Given the description of an element on the screen output the (x, y) to click on. 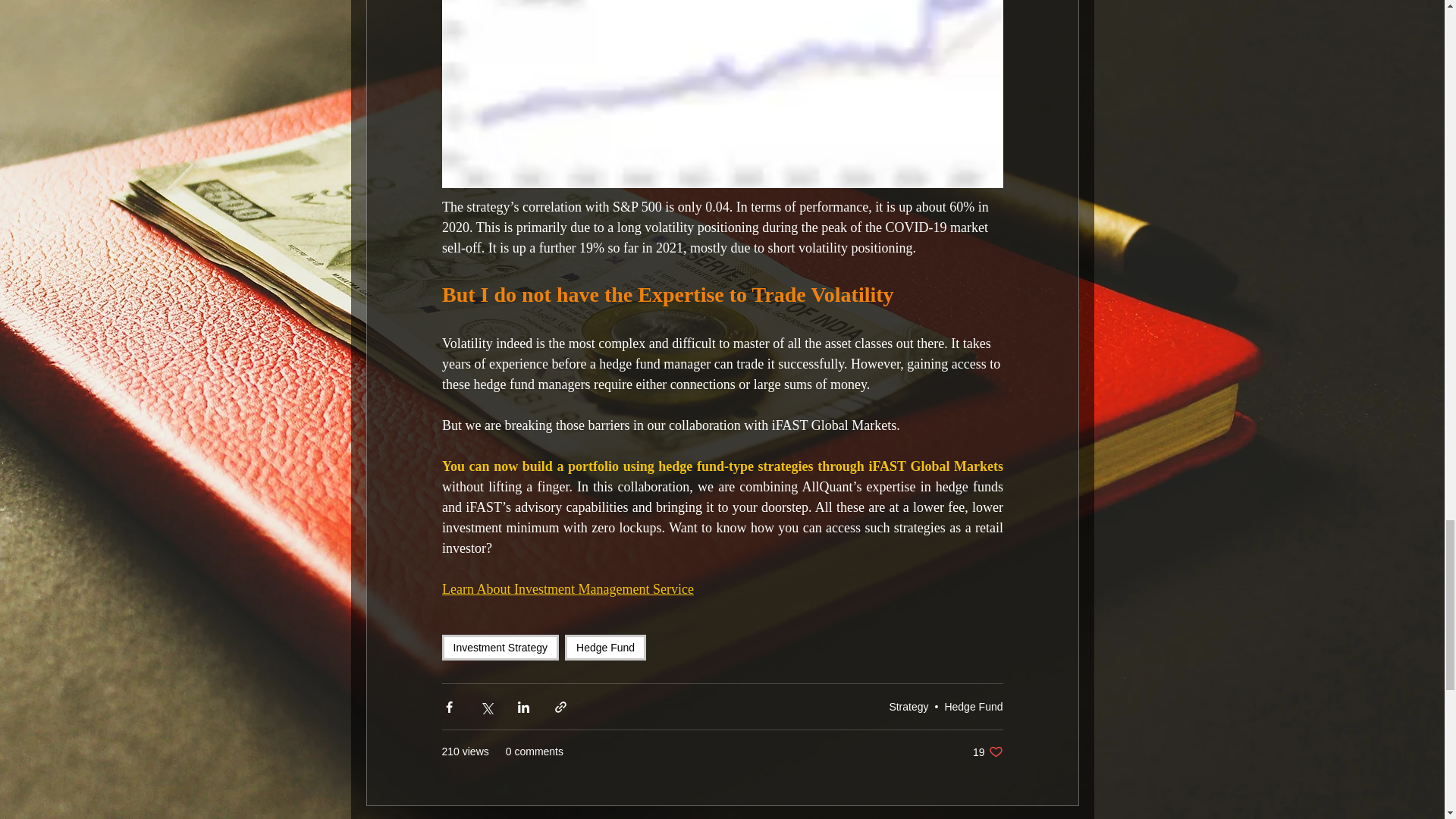
Investment Strategy (500, 647)
Learn About Investment Management Service (567, 589)
Hedge Fund (973, 706)
Strategy (908, 706)
iFAST Global Markets (935, 466)
Hedge Fund (987, 751)
